Given the description of an element on the screen output the (x, y) to click on. 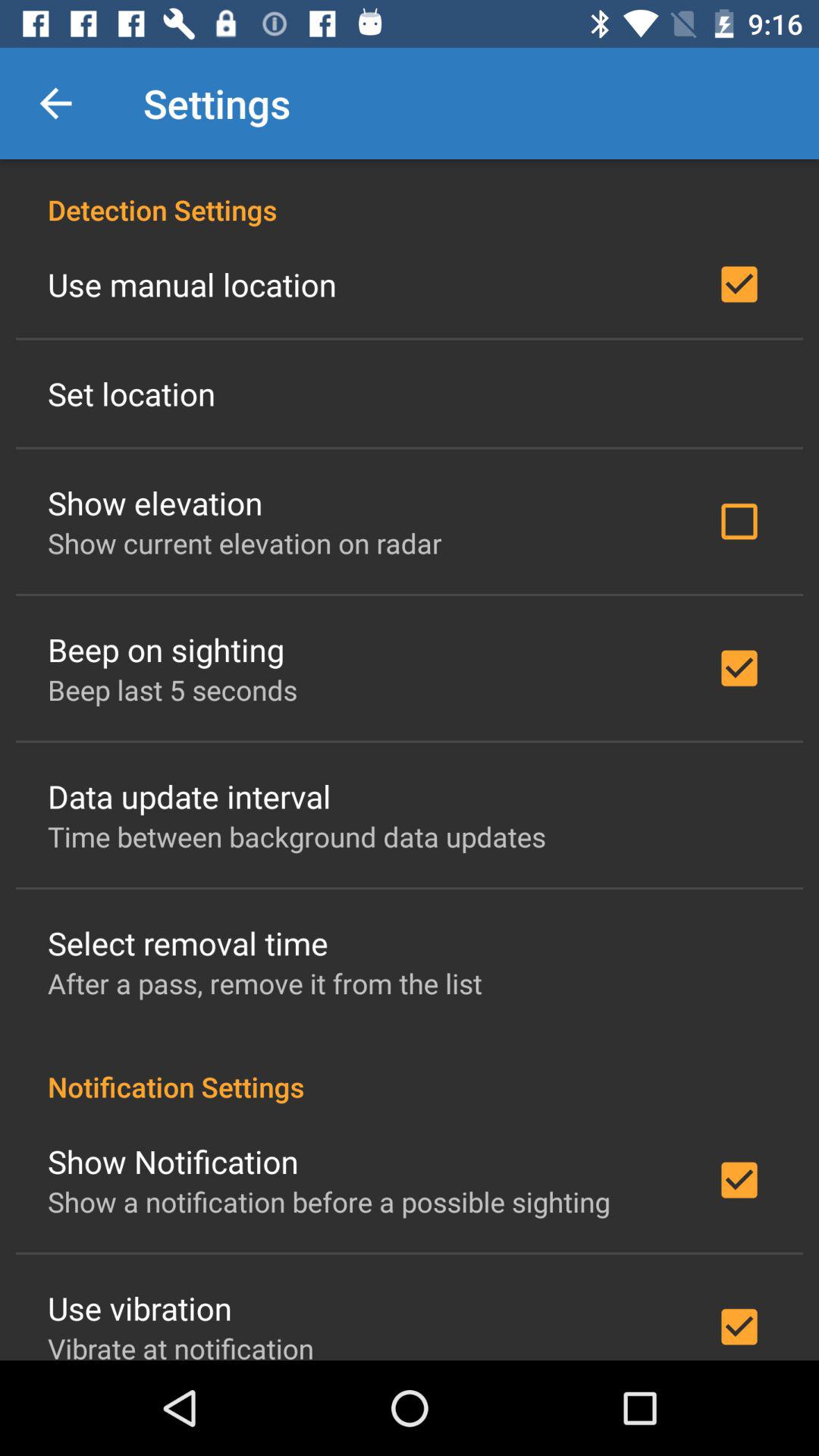
open time between background at the center (296, 836)
